Given the description of an element on the screen output the (x, y) to click on. 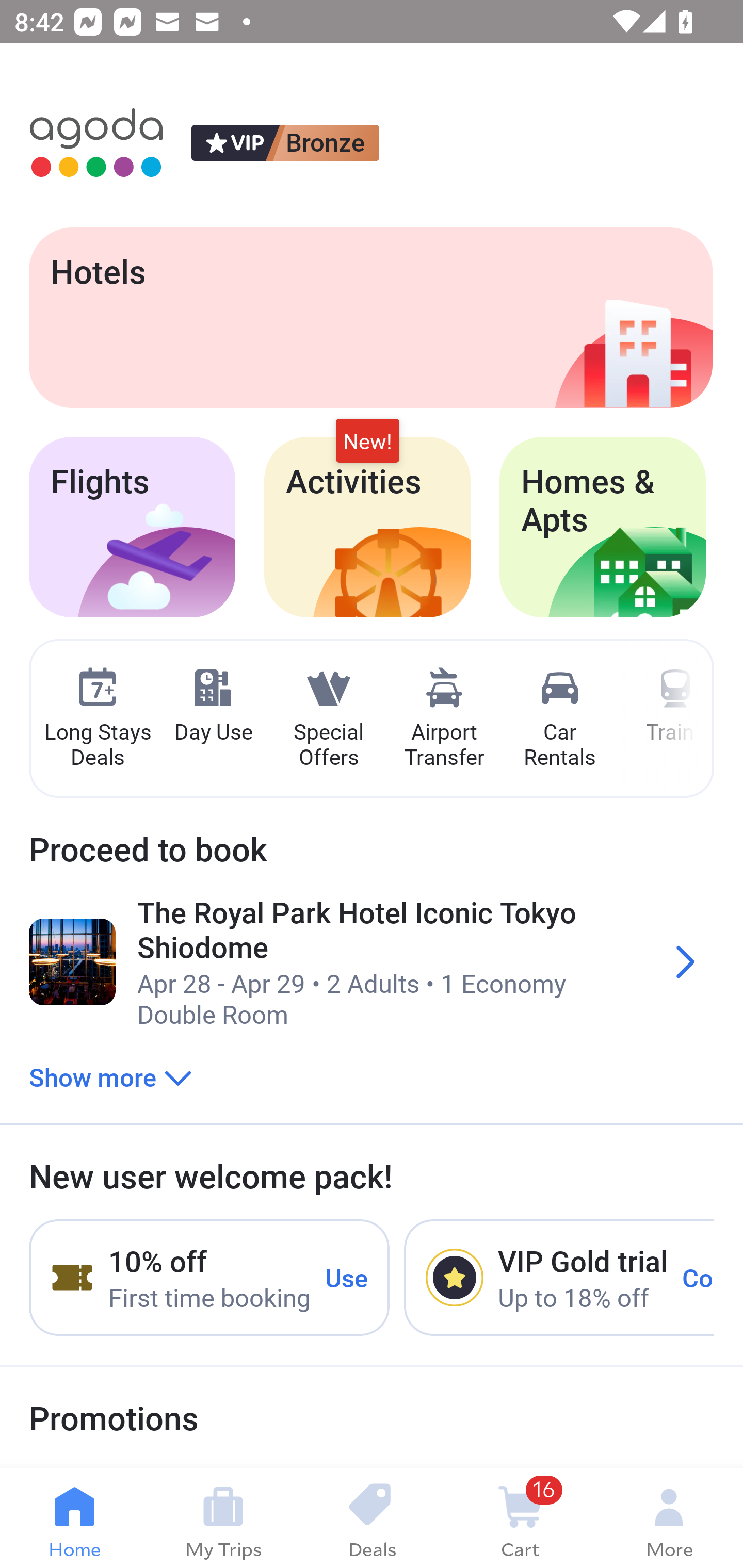
Hotels (370, 317)
New! (367, 441)
Flights (131, 527)
Activities (367, 527)
Homes & Apts (602, 527)
Day Use (213, 706)
Long Stays Deals (97, 718)
Special Offers (328, 718)
Airport Transfer (444, 718)
Car Rentals (559, 718)
Show more (110, 1076)
Use (346, 1277)
Home (74, 1518)
My Trips (222, 1518)
Deals (371, 1518)
16 Cart (519, 1518)
More (668, 1518)
